Given the description of an element on the screen output the (x, y) to click on. 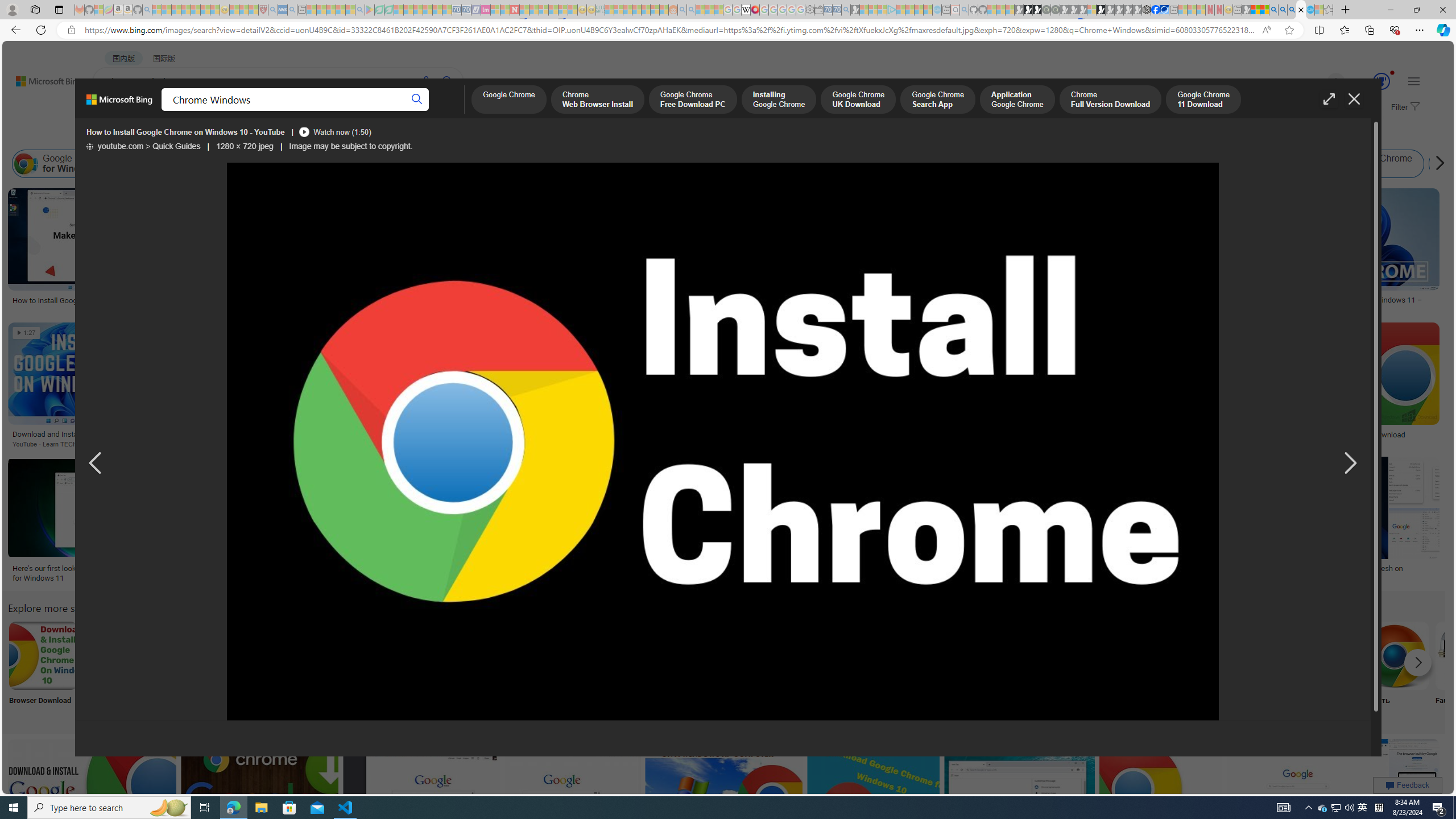
Chrome Browser Logo Browser Logo (718, 669)
Play Zoo Boom in your browser | Games from Microsoft Start (1027, 9)
Latest Google Chrome Free Download (1441, 163)
Date (336, 135)
Google Chrome for Windows (25, 163)
Google Chrome Win 7 (1331, 163)
How to download Chrome on Windows 10 (1139, 568)
